Given the description of an element on the screen output the (x, y) to click on. 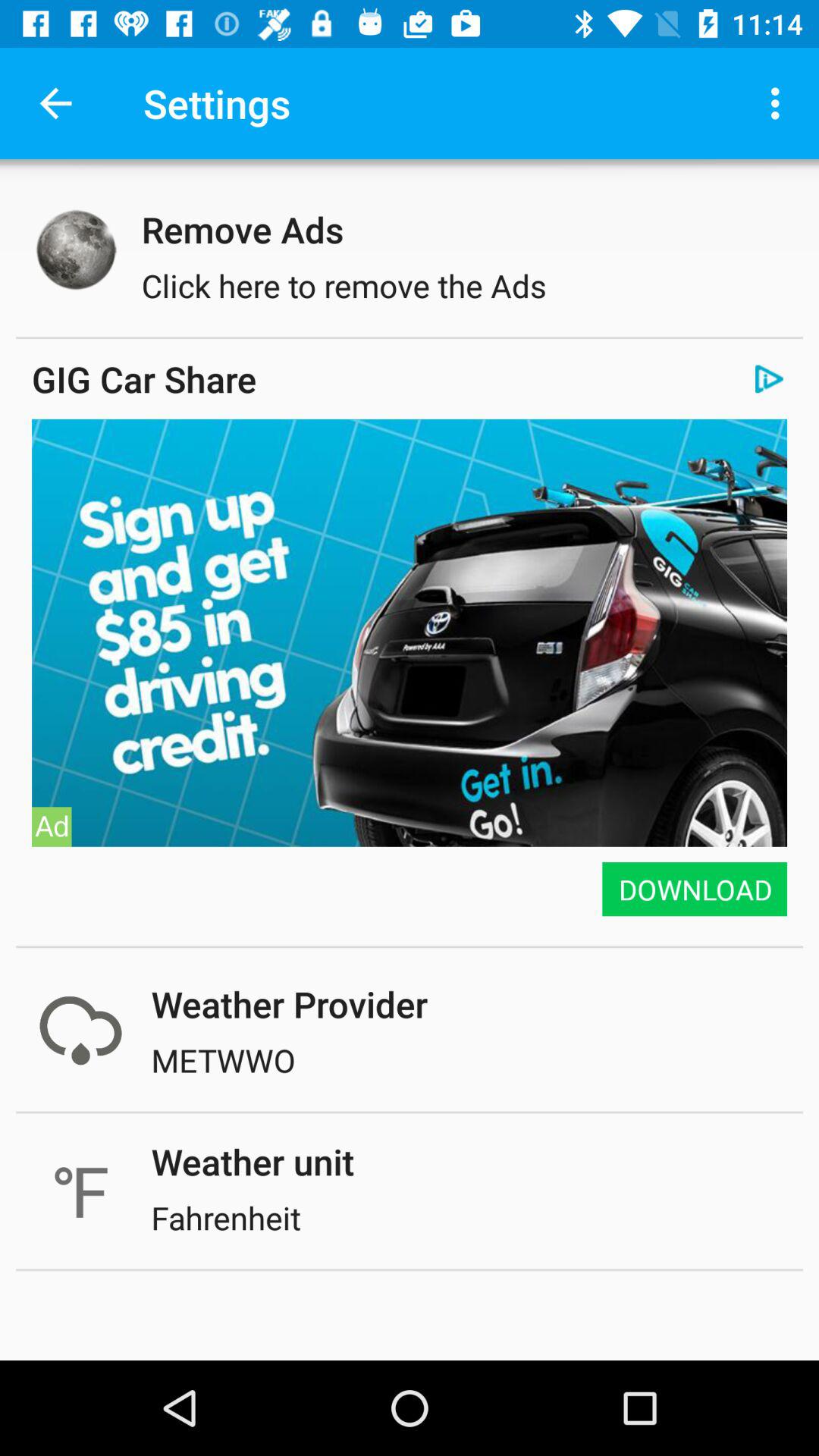
open item above the download item (409, 632)
